Given the description of an element on the screen output the (x, y) to click on. 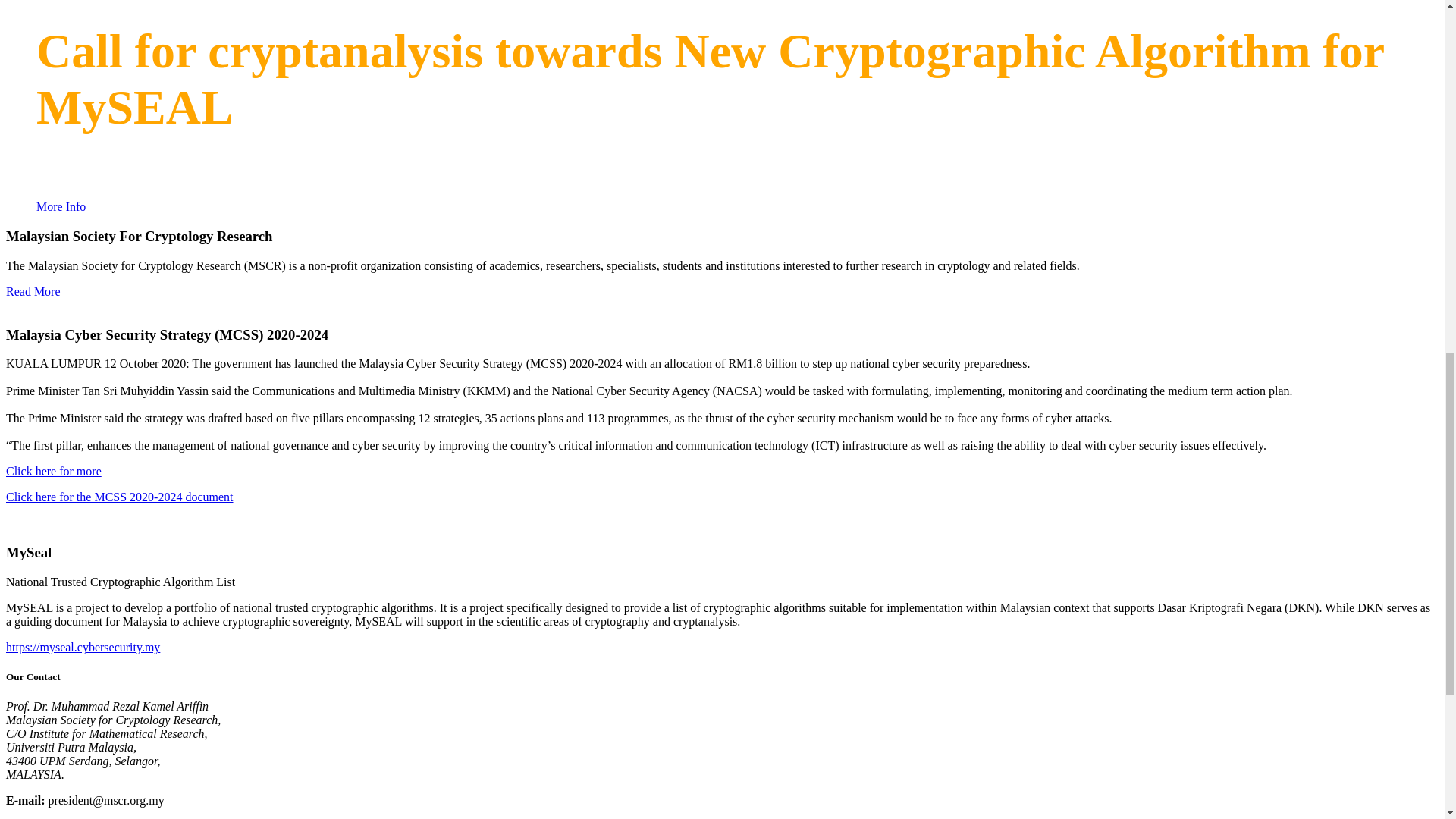
Click here for more (53, 471)
More Info (60, 205)
Click here for the MCSS 2020-2024 document (118, 496)
Read More (33, 291)
